Given the description of an element on the screen output the (x, y) to click on. 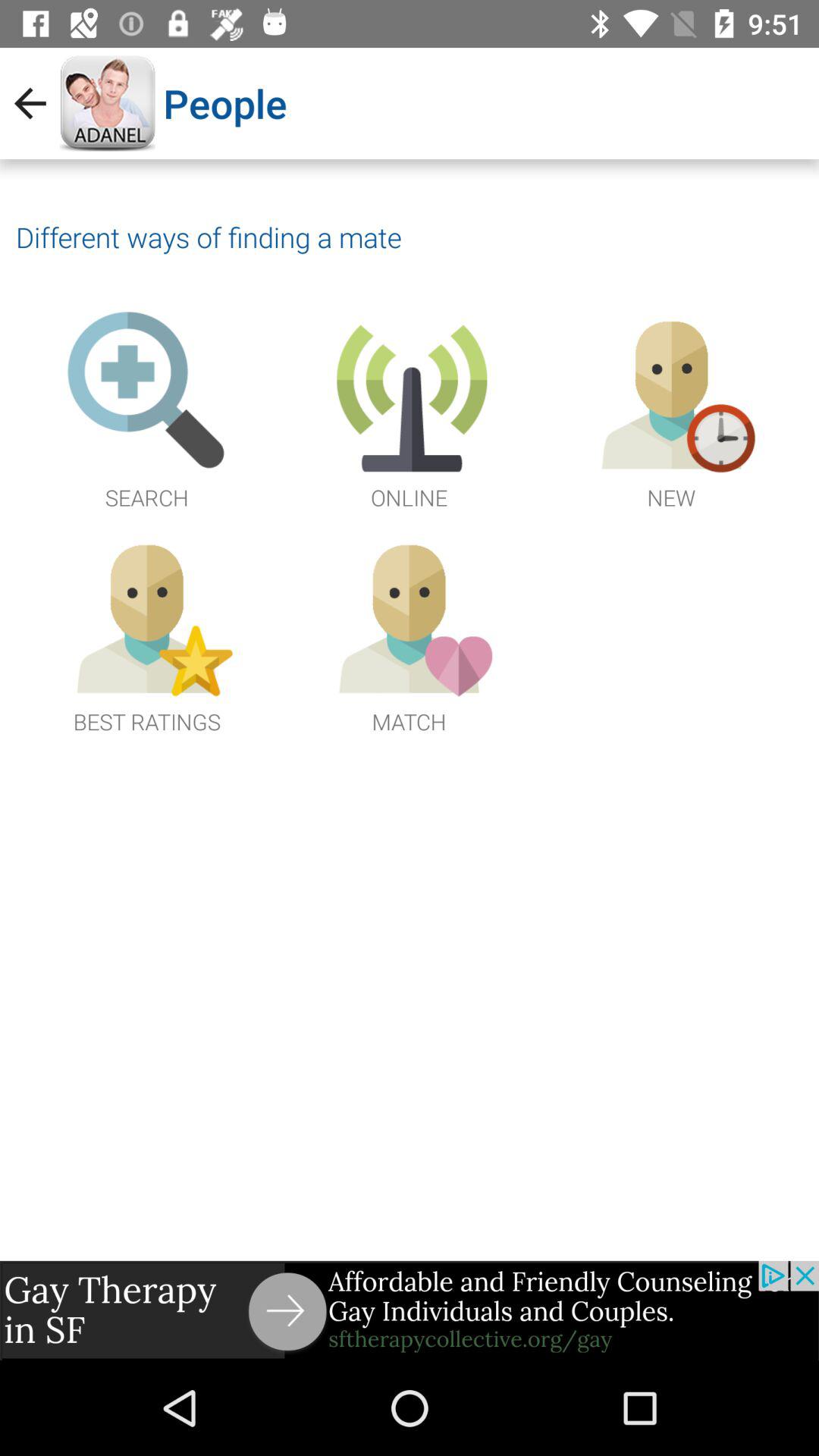
advertisement (409, 1310)
